Given the description of an element on the screen output the (x, y) to click on. 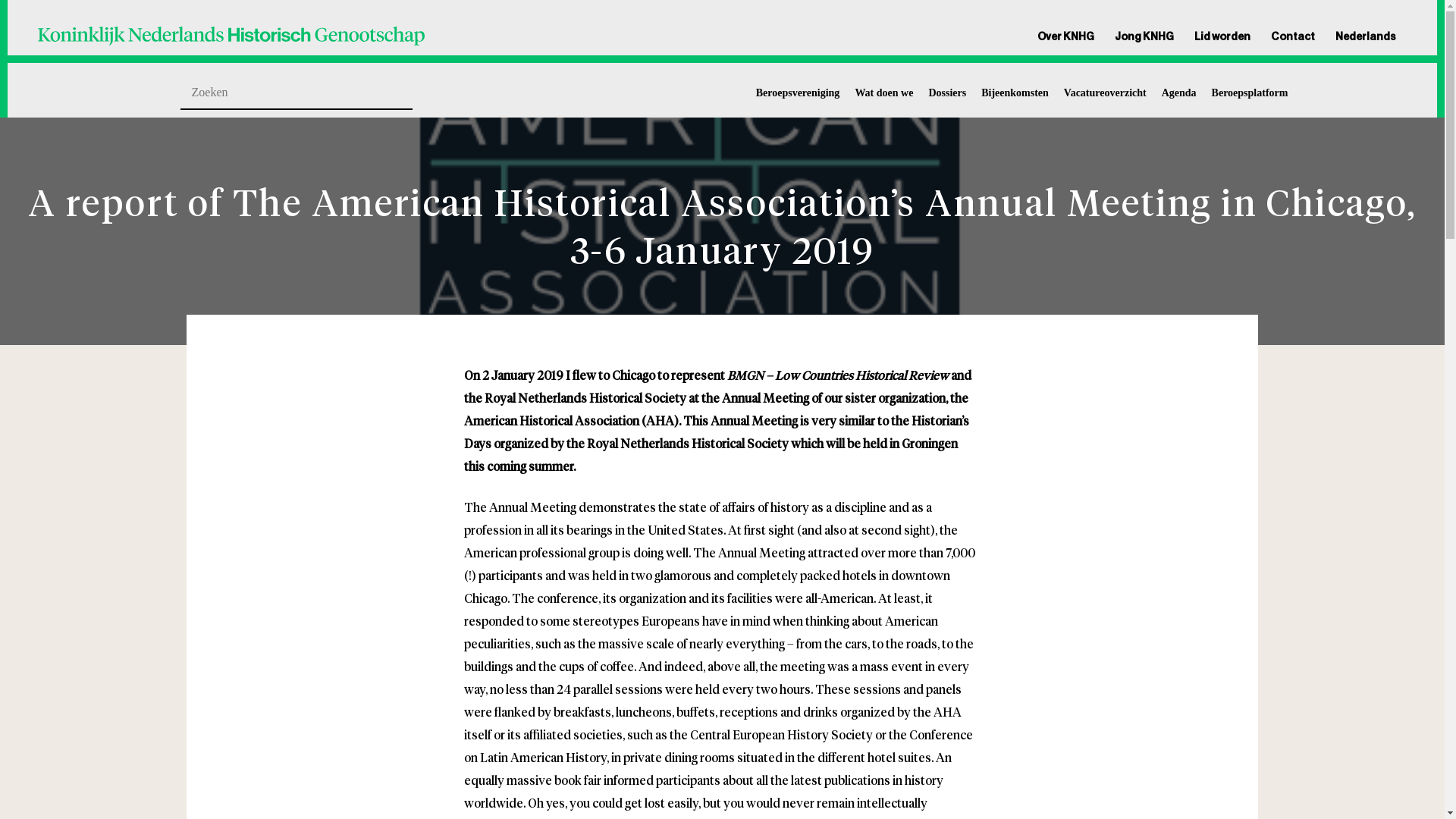
Dossiers (947, 92)
Contact (1292, 35)
Beroepsvereniging (797, 92)
Jong KNHG (1143, 35)
Nederlands (1361, 35)
Nederlands (1361, 35)
Over KNHG (1069, 35)
Lid worden (1222, 35)
Wat doen we (883, 92)
